Given the description of an element on the screen output the (x, y) to click on. 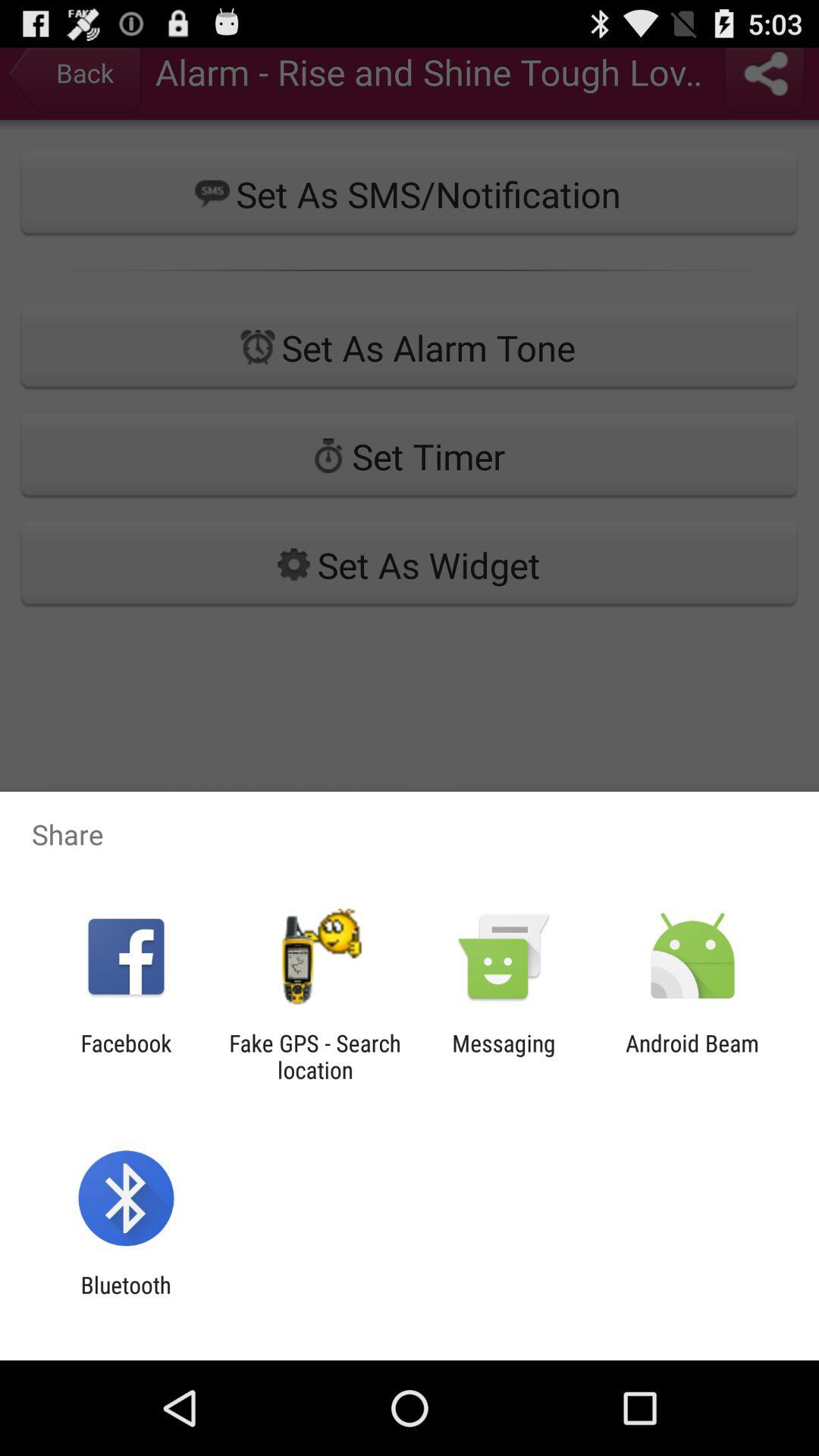
turn off icon to the right of messaging (692, 1056)
